Given the description of an element on the screen output the (x, y) to click on. 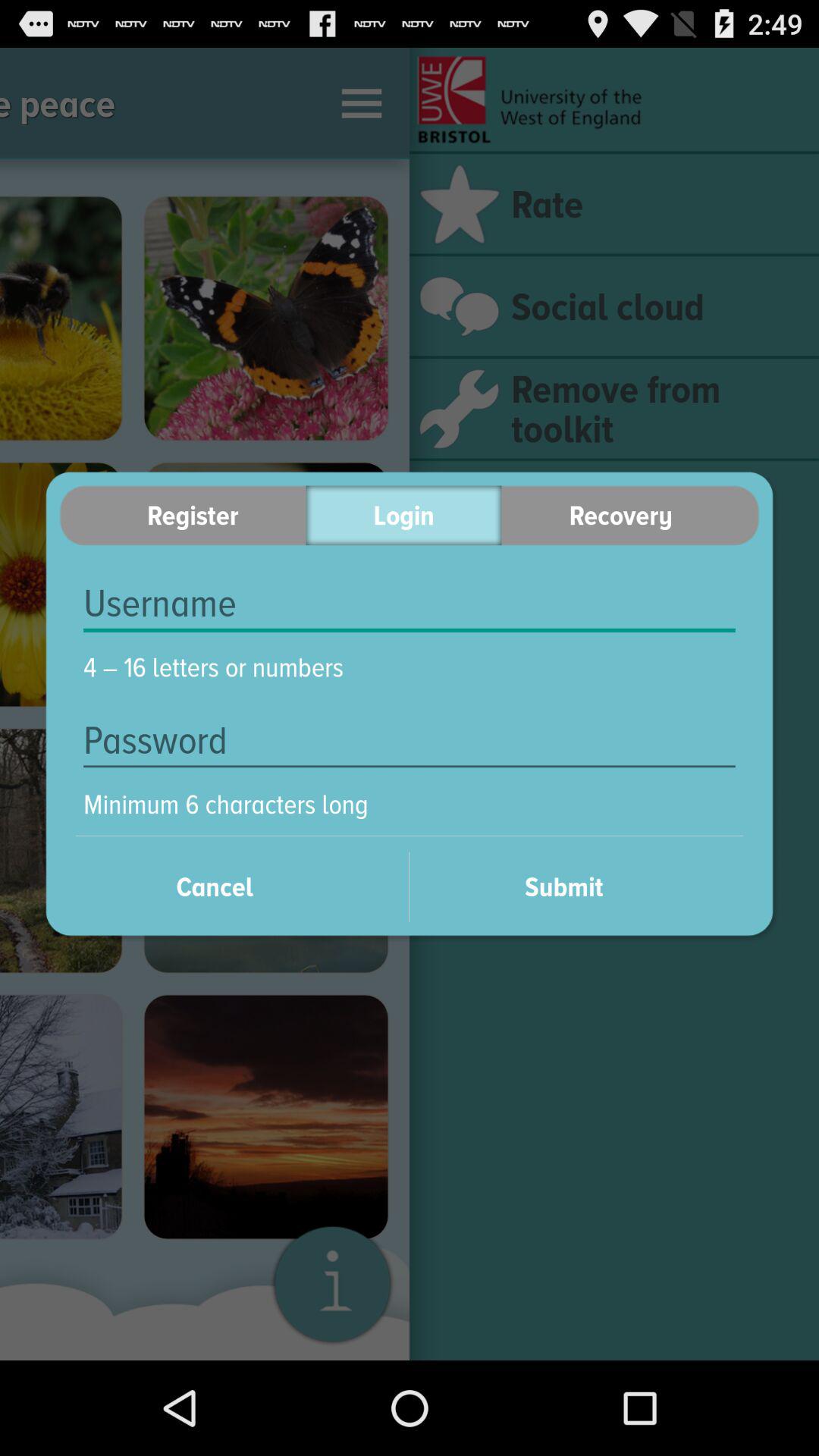
choose icon next to register (403, 515)
